Given the description of an element on the screen output the (x, y) to click on. 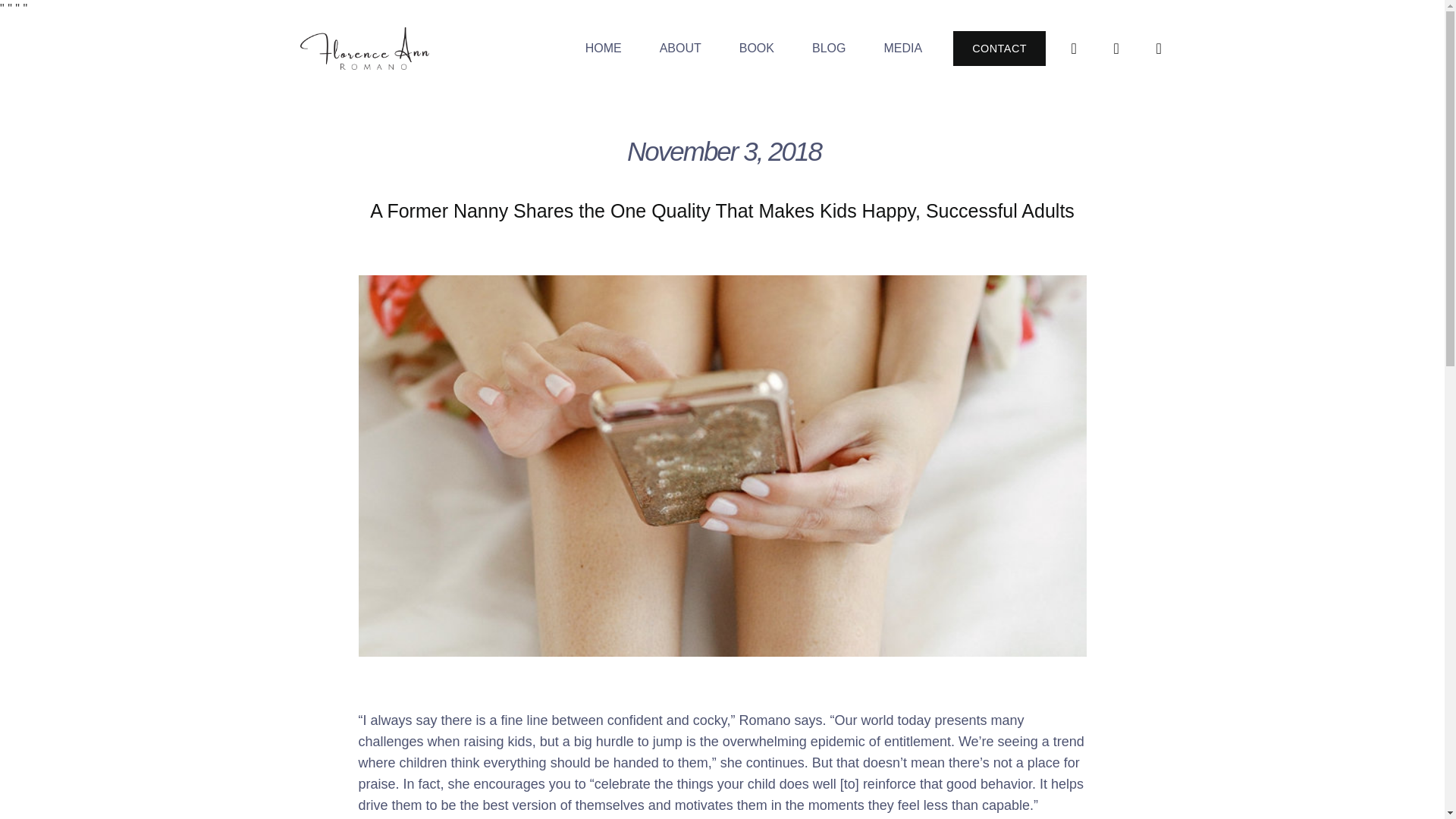
ABOUT (680, 48)
BLOG (828, 48)
MEDIA (902, 48)
CONTACT (999, 48)
HOME (603, 48)
BOOK (756, 48)
